Given the description of an element on the screen output the (x, y) to click on. 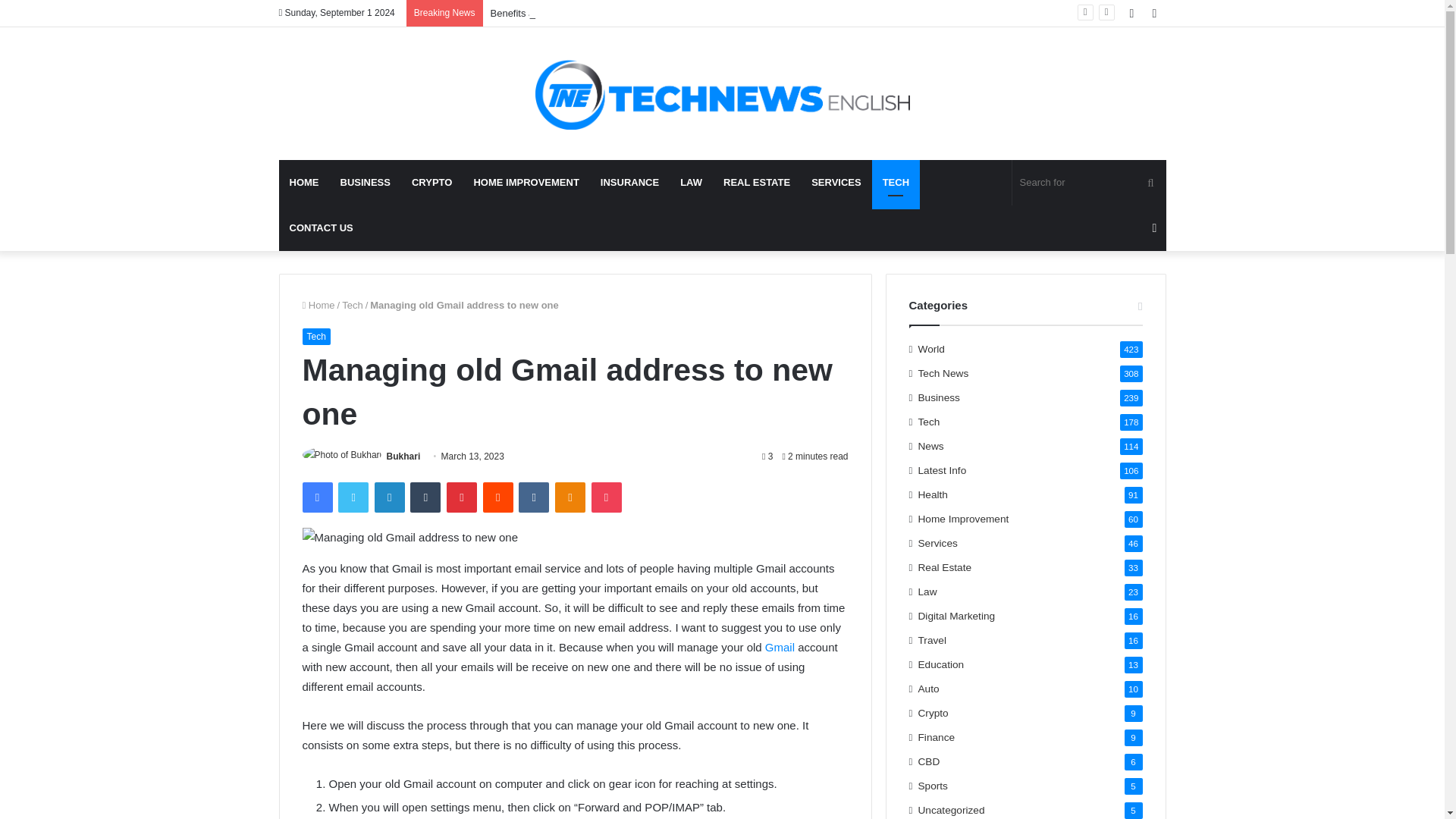
INSURANCE (629, 182)
Tech (315, 336)
LinkedIn (389, 497)
LinkedIn (389, 497)
Tech News English (722, 93)
Gmail (779, 646)
Pocket (606, 497)
Twitter (352, 497)
Facebook (316, 497)
BUSINESS (364, 182)
